Given the description of an element on the screen output the (x, y) to click on. 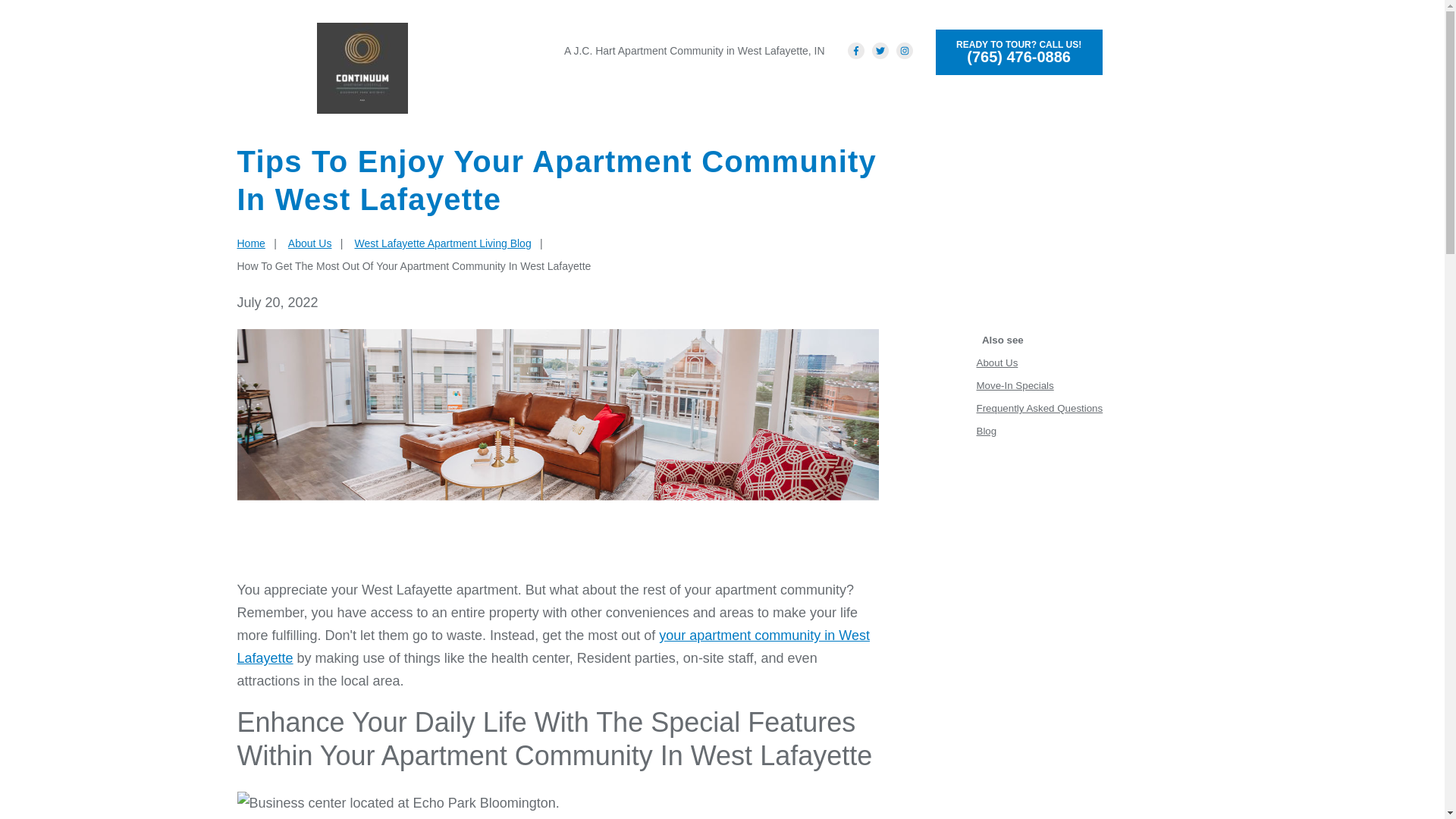
About Us (996, 362)
RESIDENTS (989, 99)
About Us (309, 243)
Home (249, 243)
Like us on Facebook (855, 50)
AMENITIES (730, 99)
Follow us on Instagram (904, 50)
GALLERY (909, 99)
West Lafayette Apartment Living Blog (442, 243)
